Given the description of an element on the screen output the (x, y) to click on. 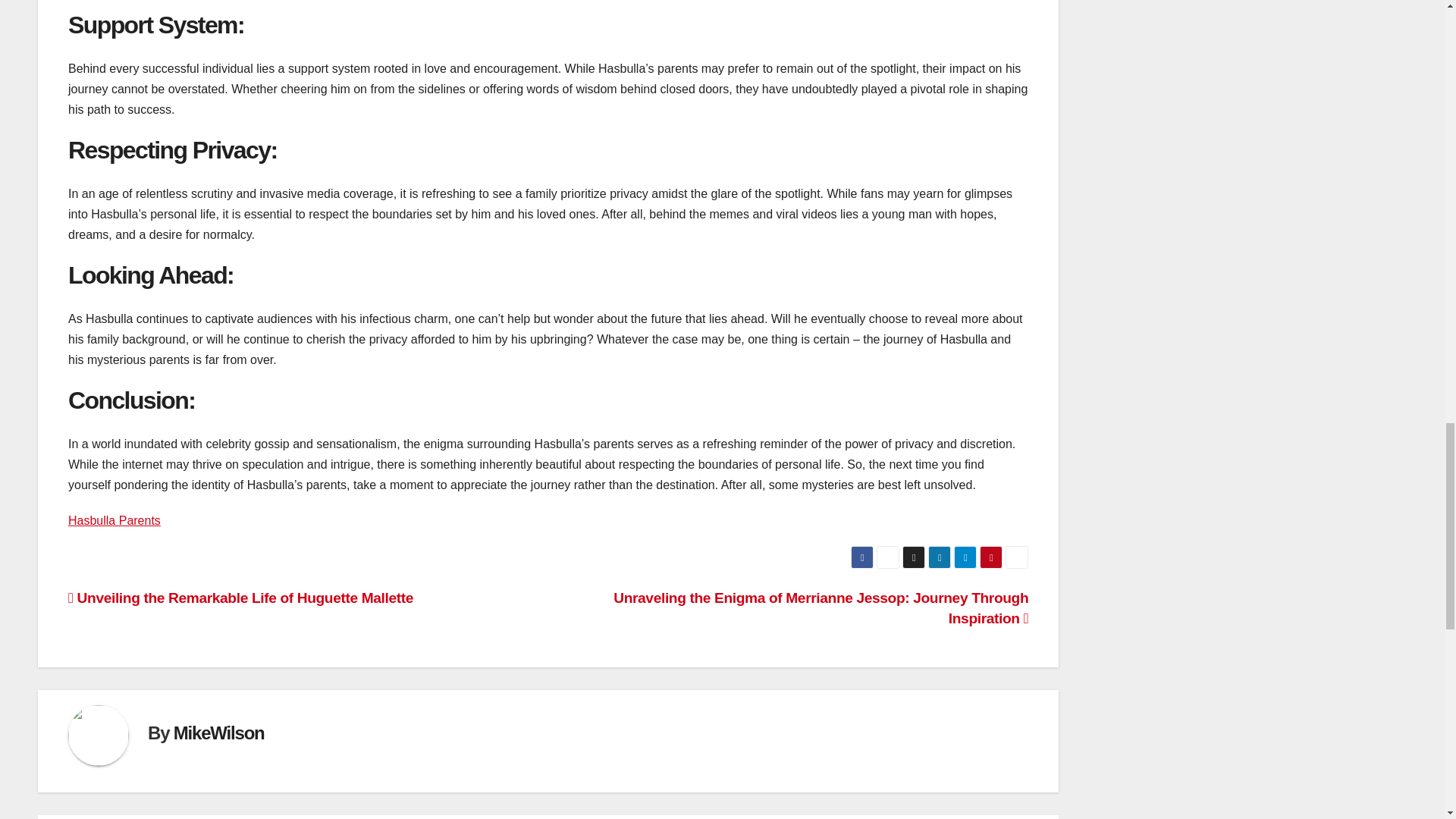
Unveiling the Remarkable Life of Huguette Mallette (240, 597)
Hasbulla Parents (114, 520)
MikeWilson (218, 732)
